Given the description of an element on the screen output the (x, y) to click on. 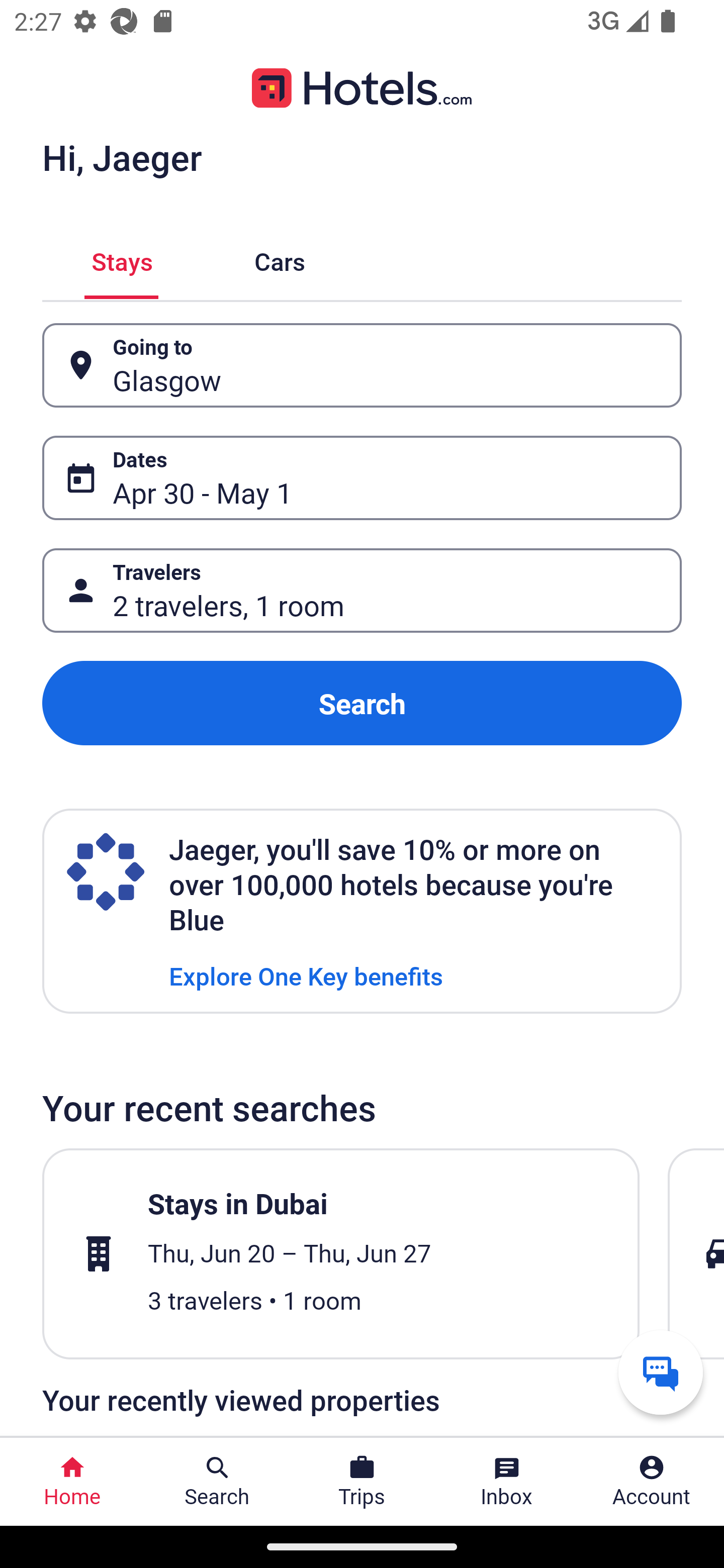
Hi, Jaeger (121, 156)
Cars (279, 259)
Going to Button Glasgow (361, 365)
Dates Button Apr 30 - May 1 (361, 477)
Travelers Button 2 travelers, 1 room (361, 590)
Search (361, 702)
Get help from a virtual agent (660, 1371)
Search Search Button (216, 1481)
Trips Trips Button (361, 1481)
Inbox Inbox Button (506, 1481)
Account Profile. Button (651, 1481)
